Given the description of an element on the screen output the (x, y) to click on. 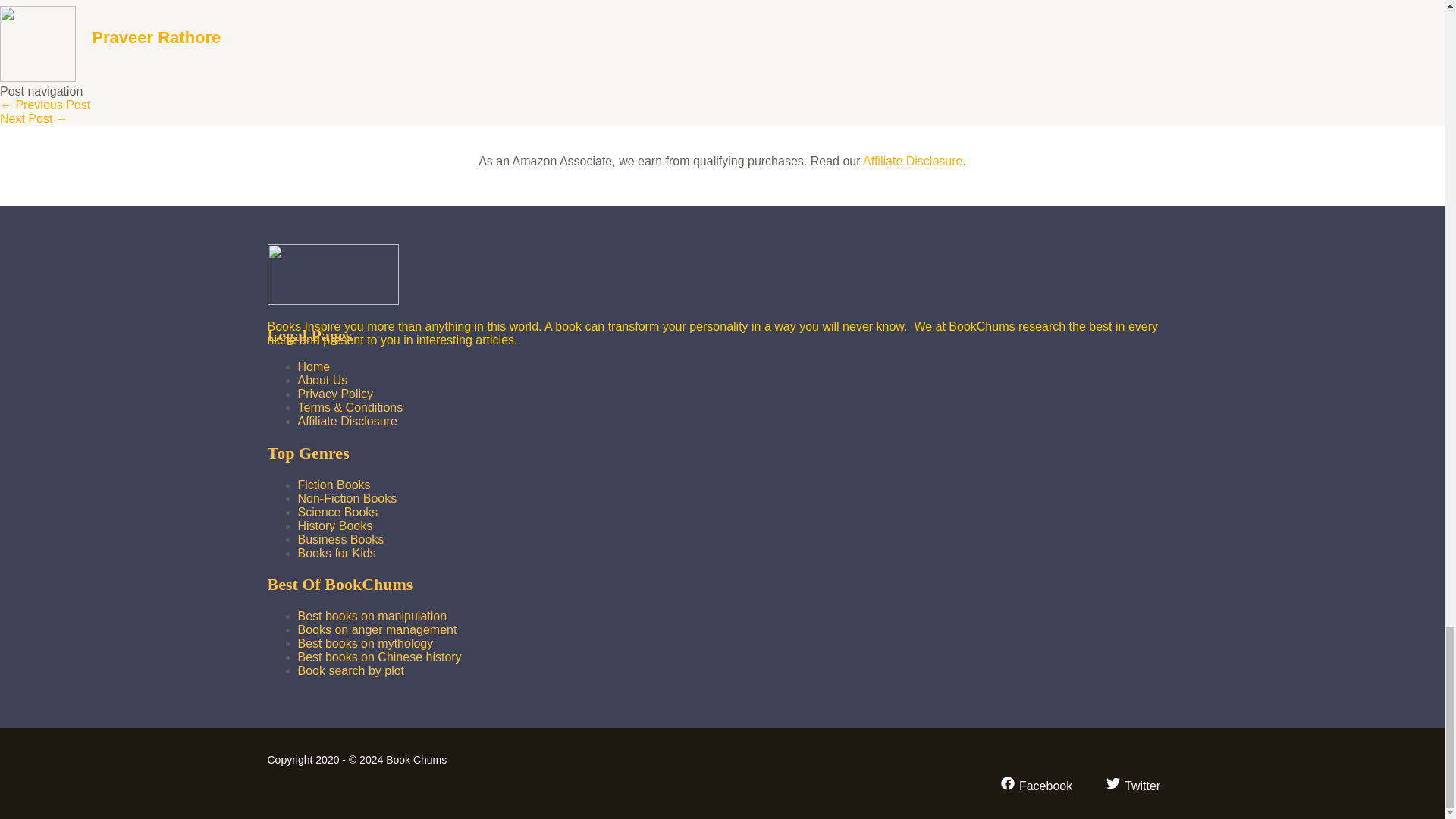
Books on anger management (377, 629)
Privacy Policy (334, 393)
About Us (322, 379)
Business Books (340, 539)
Affiliate Disclosure (912, 160)
Non-Fiction Books (346, 498)
Best books on manipulation (371, 615)
12 Decent Books On Wrestling That You Must Check Out (45, 104)
Fiction Books (333, 484)
12 Books and Series To Read If You Like Hunger Games (34, 118)
